Given the description of an element on the screen output the (x, y) to click on. 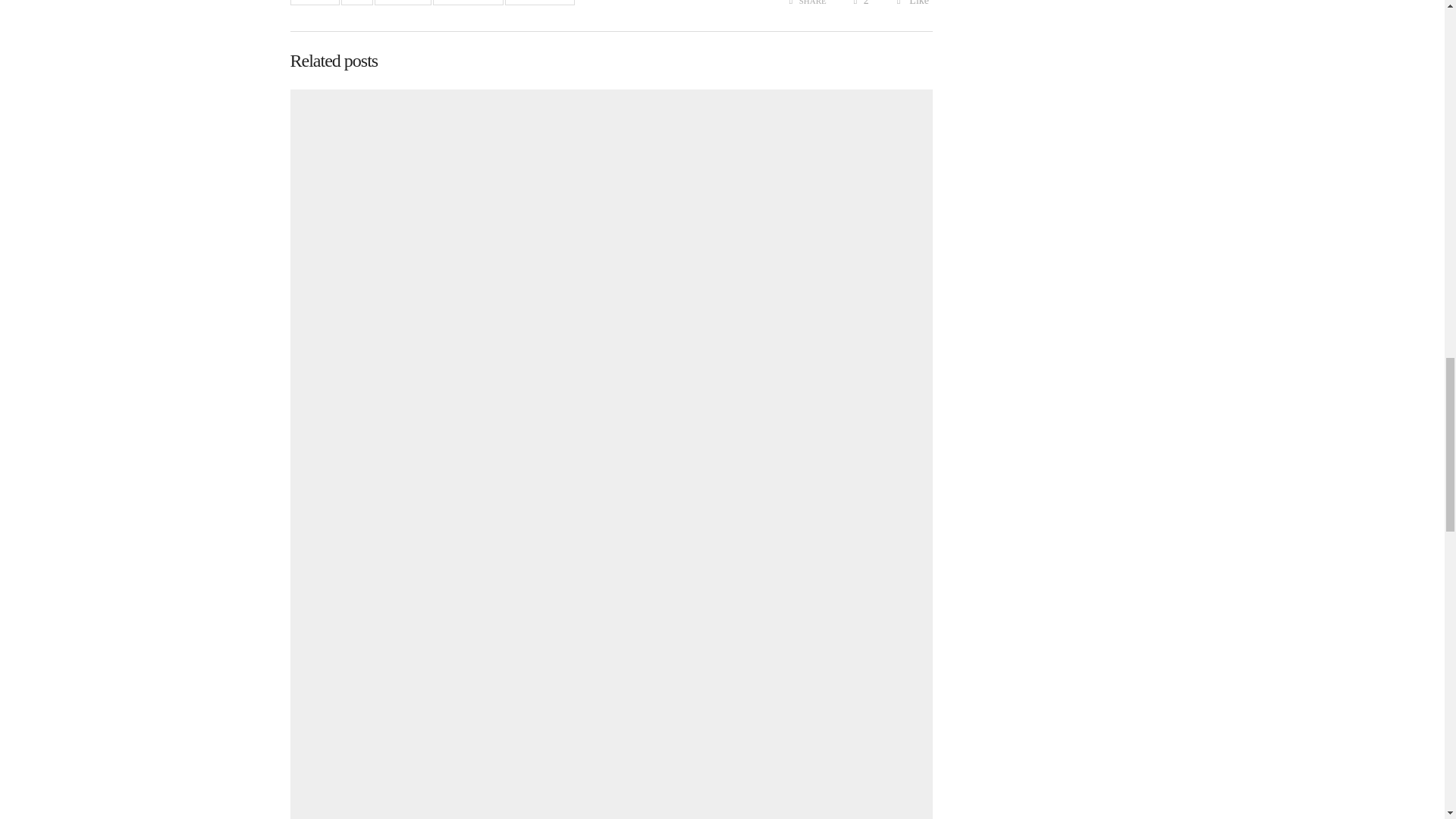
spring onion (540, 2)
Like (911, 2)
2 (860, 2)
rice bowl (402, 2)
 Like (911, 2)
egg (356, 2)
donburi (314, 2)
snow fungus (467, 2)
